Given the description of an element on the screen output the (x, y) to click on. 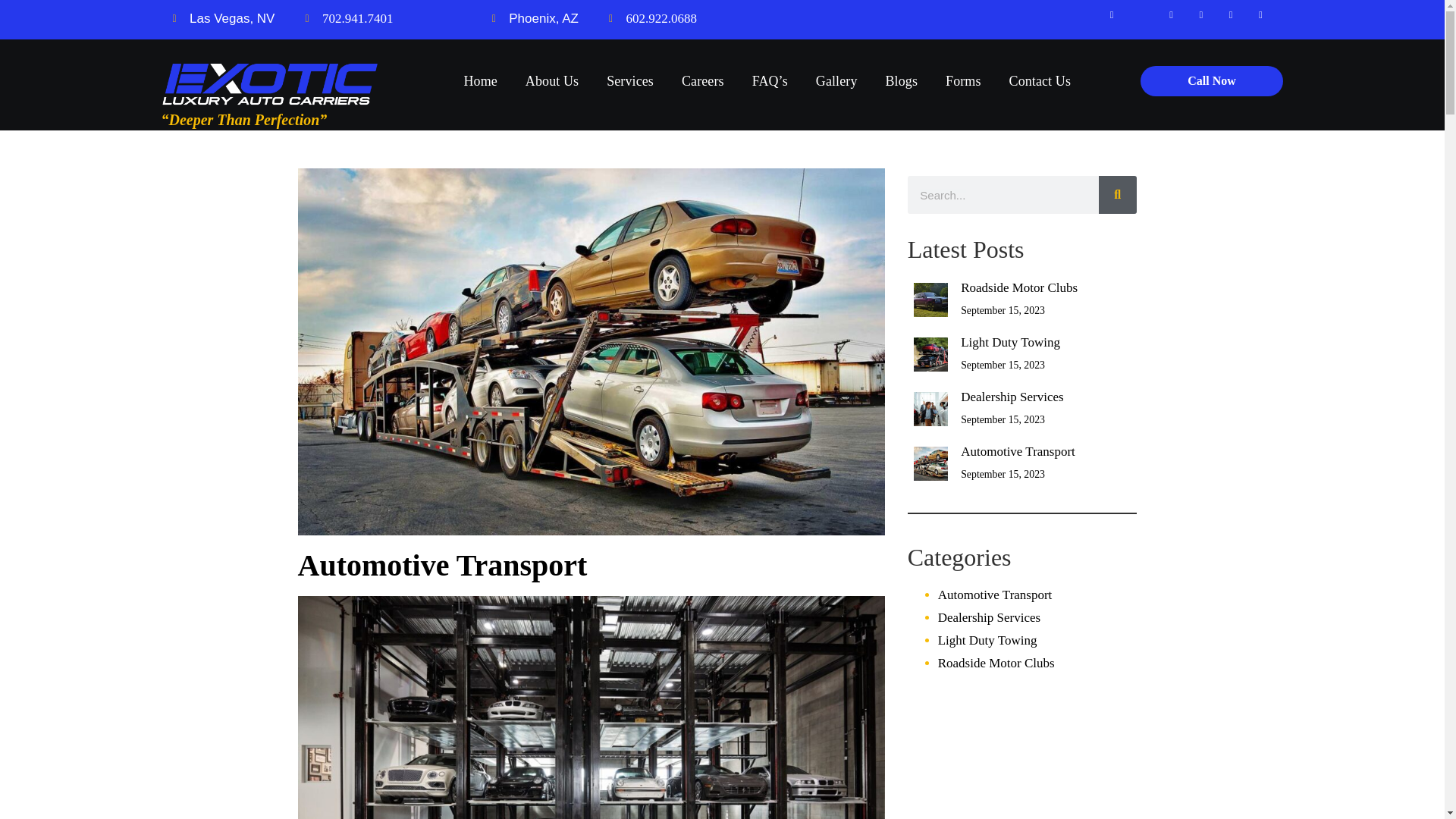
Forms (963, 80)
Contact Us (1040, 80)
602.922.0688 (652, 18)
702.941.7401 (348, 18)
Services (630, 80)
About Us (551, 80)
Careers (702, 80)
Blogs (901, 80)
Gallery (837, 80)
Home (479, 80)
